Given the description of an element on the screen output the (x, y) to click on. 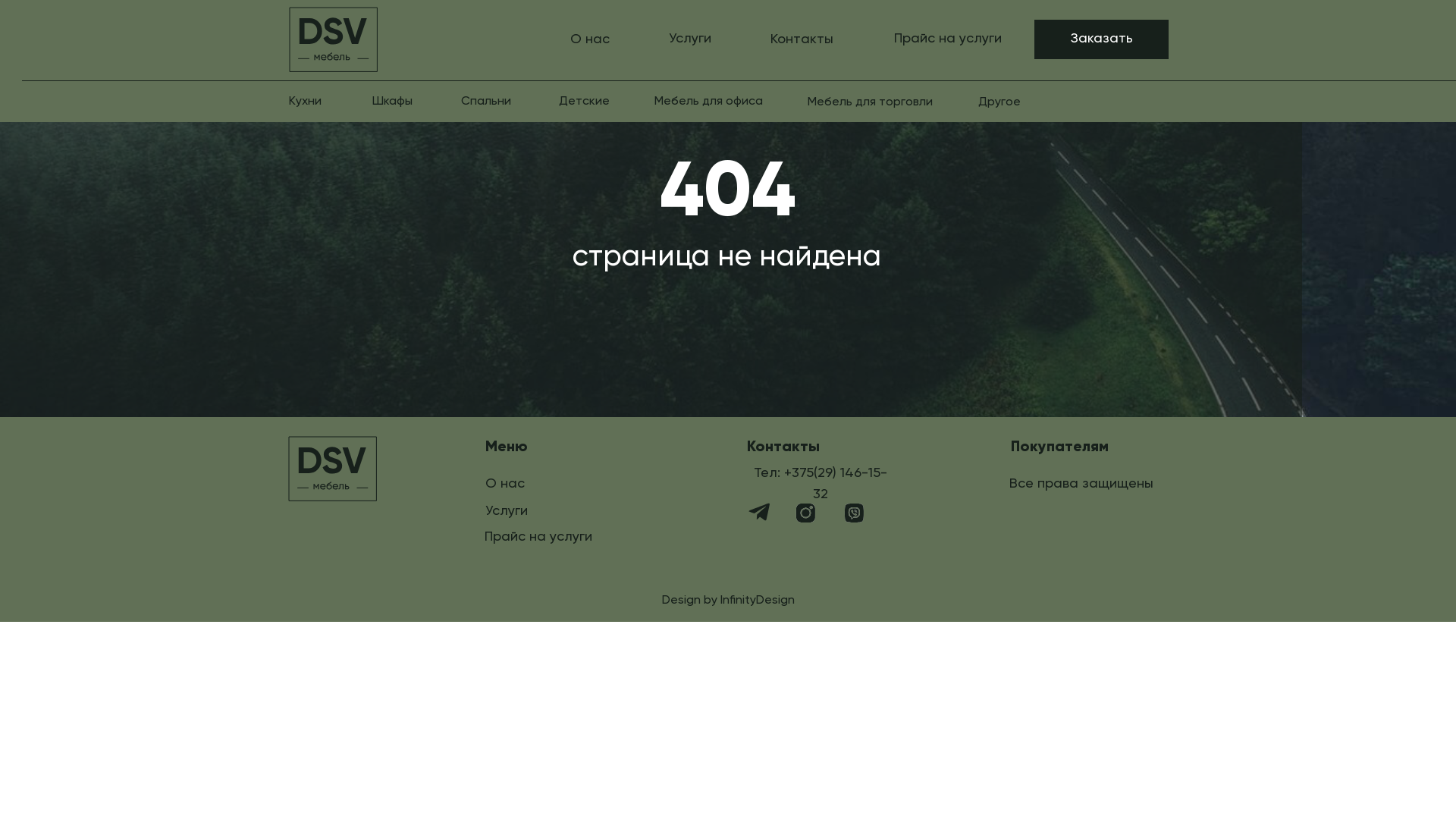
Design by InfinityDesign Element type: text (727, 600)
